Given the description of an element on the screen output the (x, y) to click on. 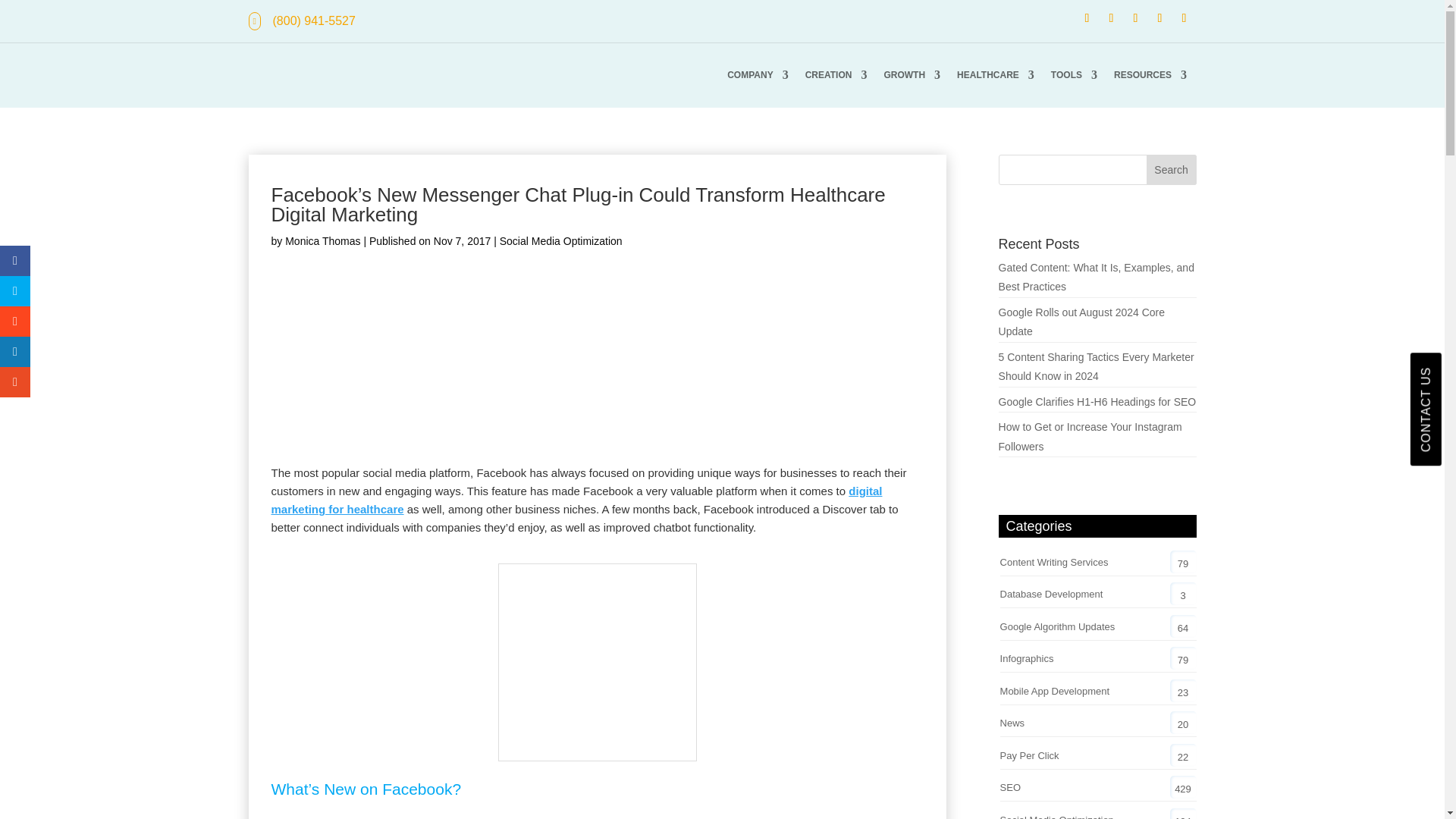
Follow on Youtube (1160, 17)
COMPANY (756, 74)
HEALTHCARE (994, 74)
CREATION (836, 74)
Search (1171, 169)
Follow (1184, 17)
Follow (1111, 17)
Follow on Facebook (1087, 17)
Follow (1087, 17)
Follow on Instagram (1184, 17)
